Given the description of an element on the screen output the (x, y) to click on. 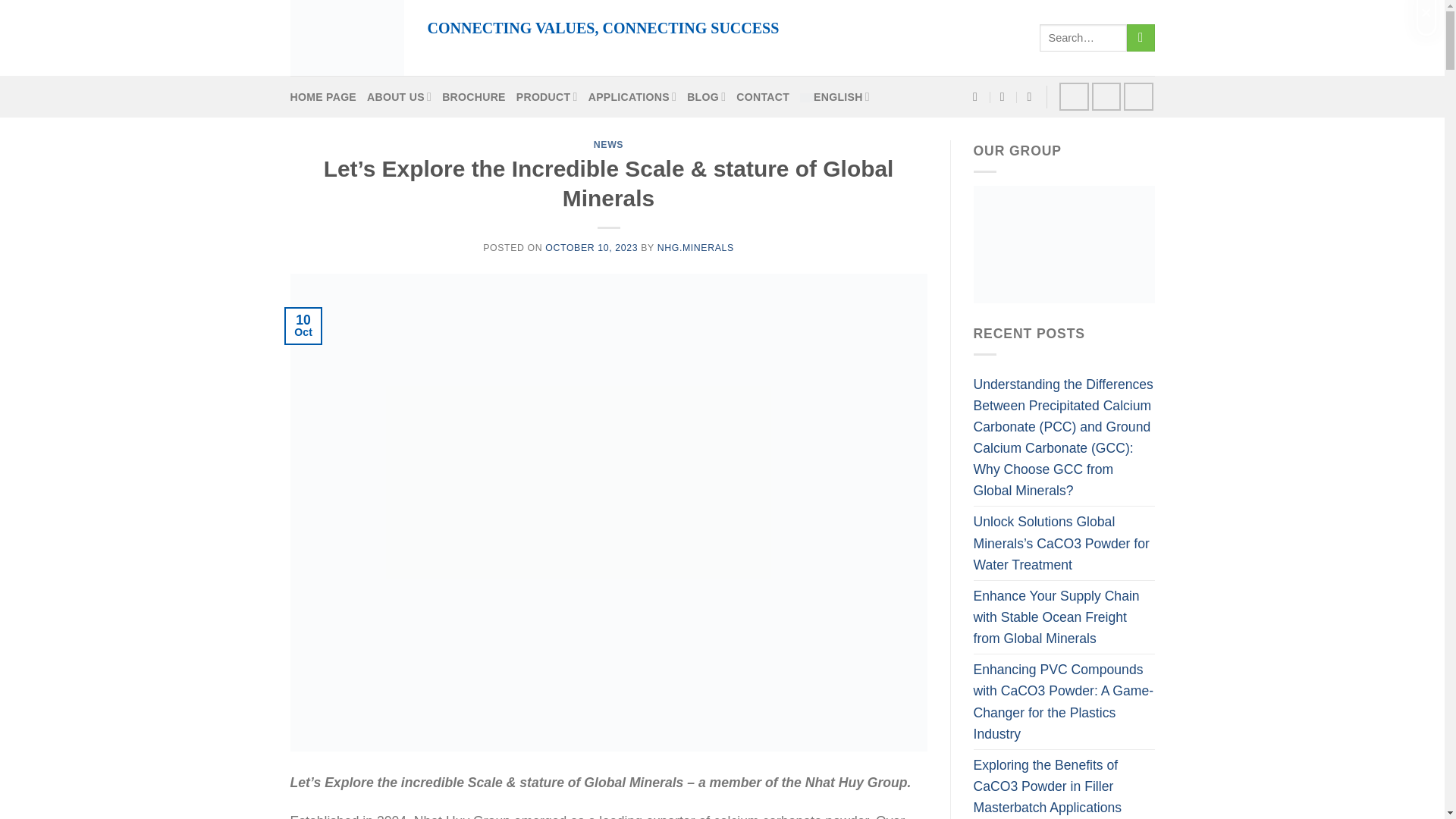
NHG.MINERALS (695, 247)
NEWS (608, 144)
CONTACT (762, 96)
HOME PAGE (322, 96)
Follow on YouTube (1138, 95)
ABOUT US (398, 96)
Vin Carb - Value Connection, Success Connection (346, 37)
BLOG (706, 96)
Follow on Facebook (1074, 95)
Follow on LinkedIn (1106, 95)
English (806, 97)
ENGLISH (834, 96)
Search (1140, 38)
APPLICATIONS (632, 96)
OCTOBER 10, 2023 (590, 247)
